Given the description of an element on the screen output the (x, y) to click on. 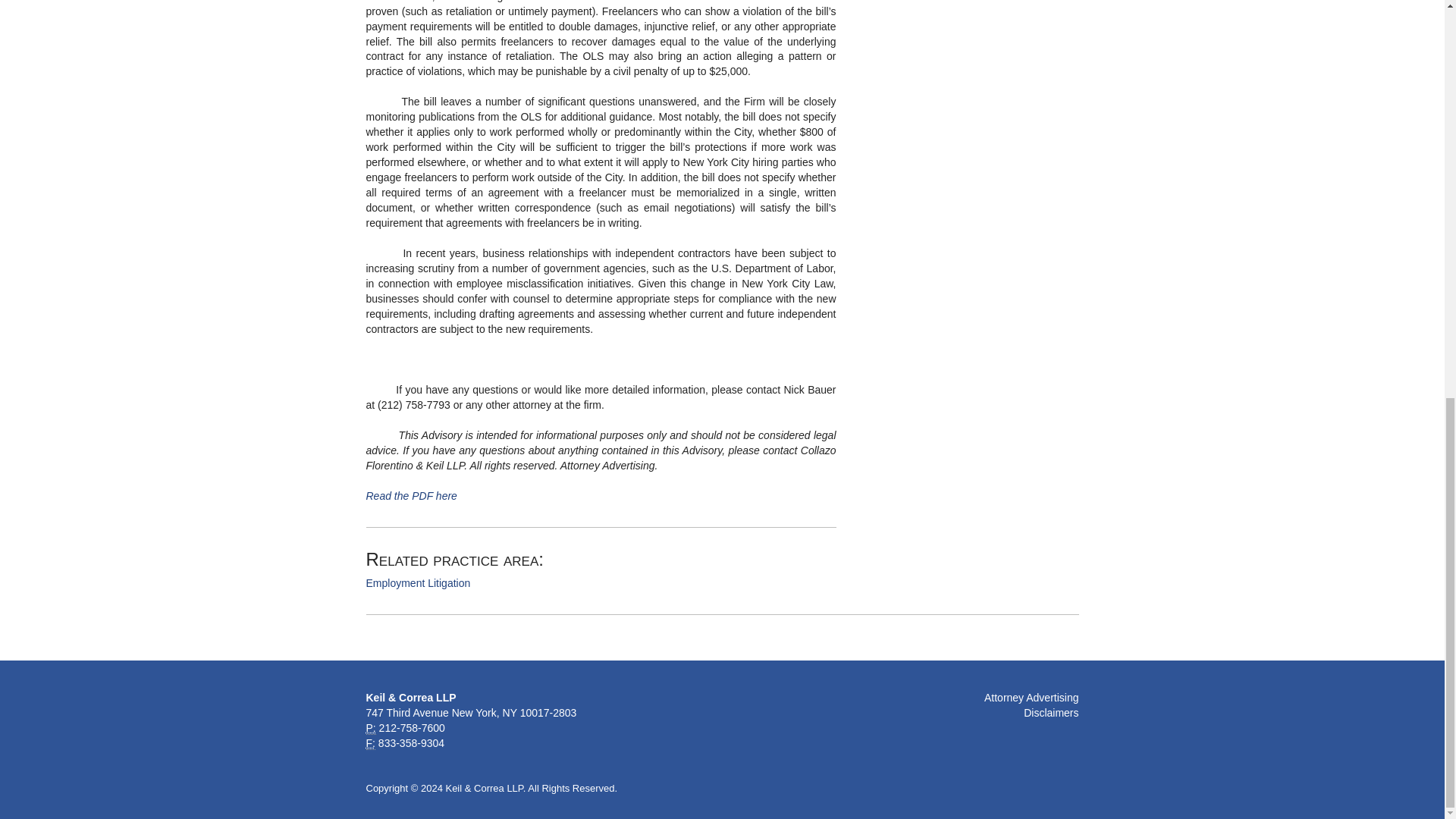
Employment Litigation (417, 582)
Disclaimers (1050, 712)
Read the PDF here (411, 495)
